Given the description of an element on the screen output the (x, y) to click on. 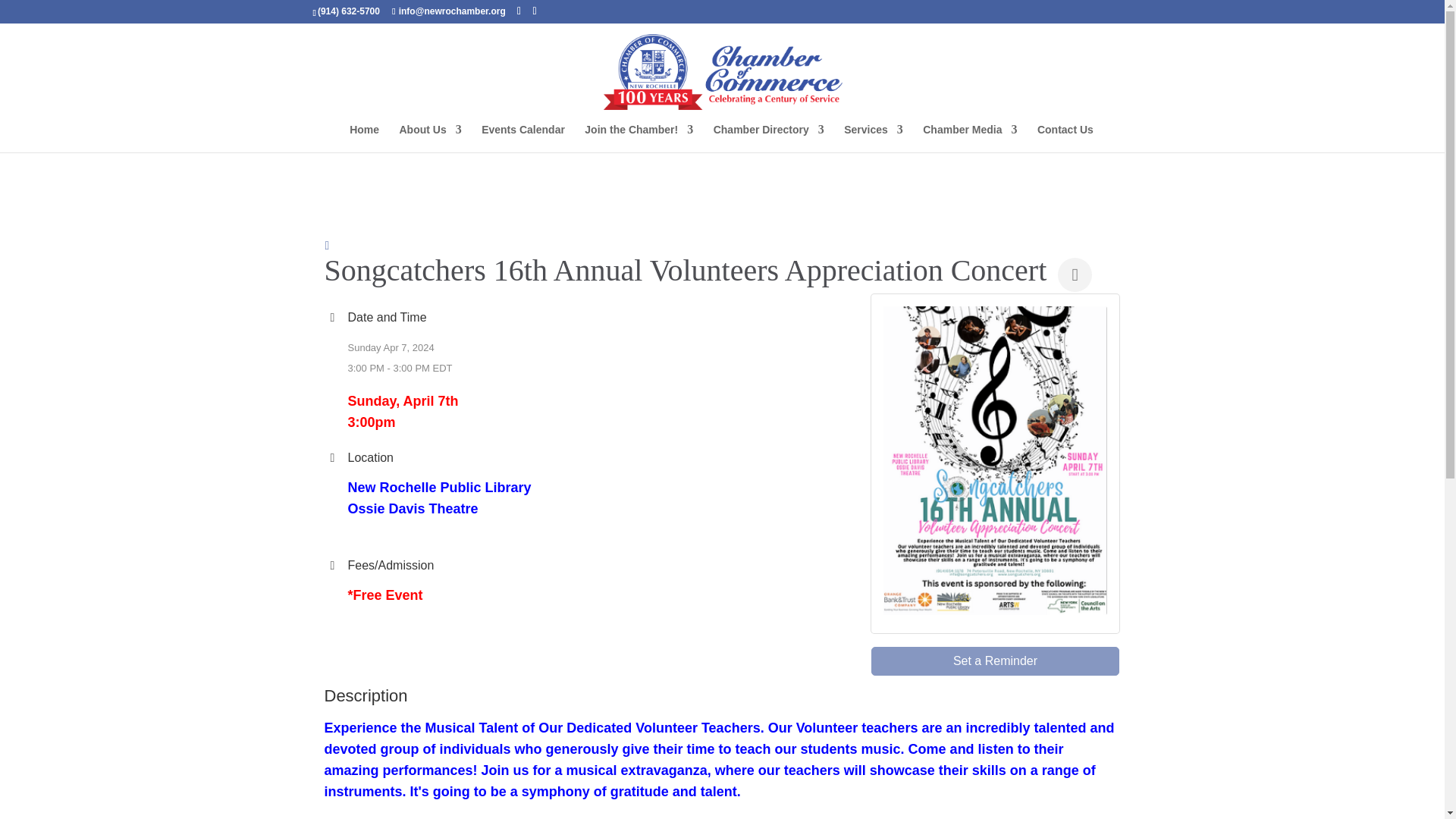
Chamber Directory (768, 138)
Chamber Media (969, 138)
Contact Us (1064, 138)
Events Calendar (522, 138)
Join the Chamber! (639, 138)
About Us (429, 138)
Home (363, 138)
Services (873, 138)
